Given the description of an element on the screen output the (x, y) to click on. 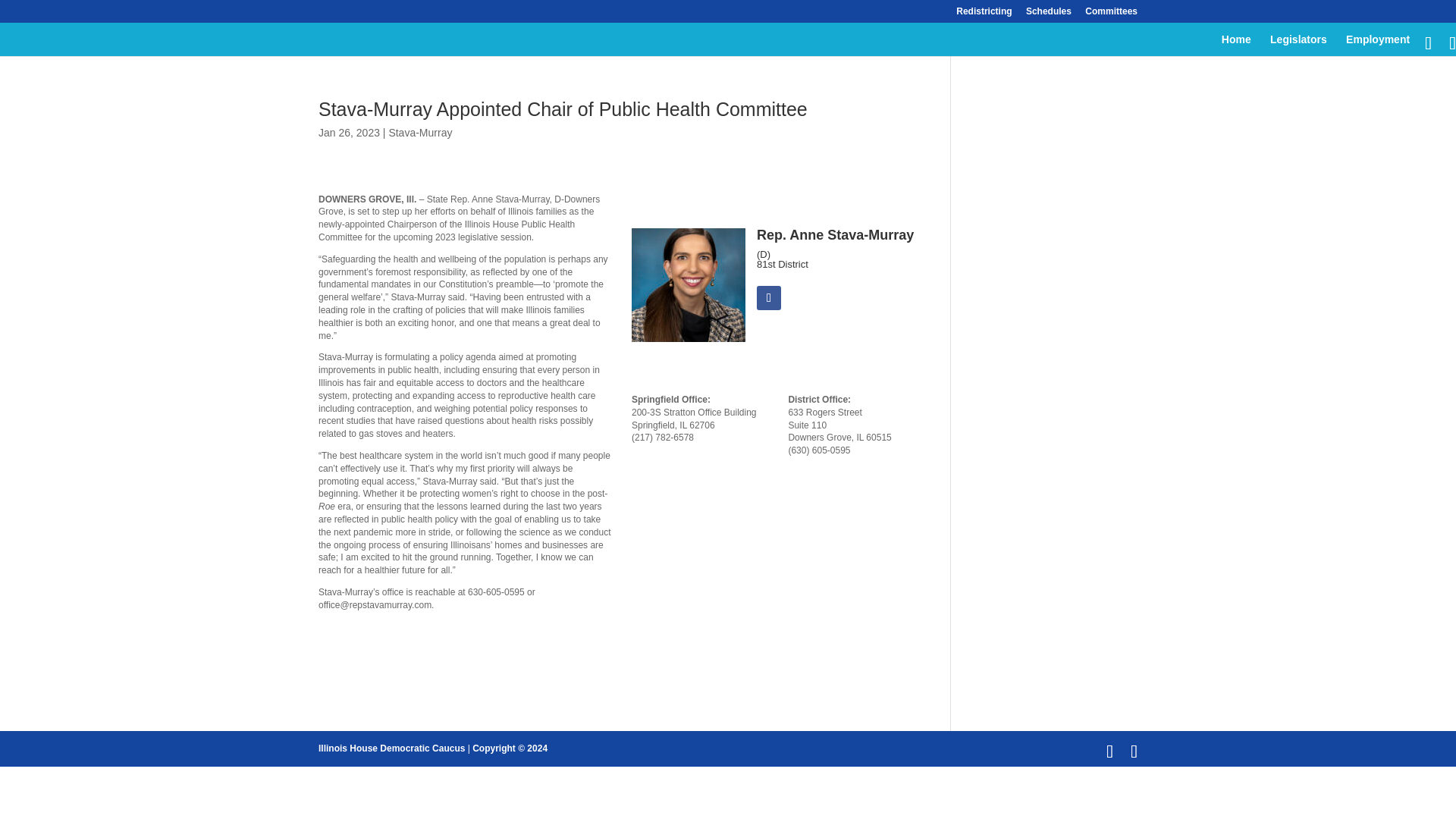
Home (1235, 45)
Legislators (1297, 45)
IL House Democrats (391, 747)
Illinois House Democratic Caucus (391, 747)
Stava-Murray (419, 132)
Follow on Facebook (768, 297)
Committees (1110, 14)
Schedules (1048, 14)
Redistricting (983, 14)
Employment (1377, 45)
